Given the description of an element on the screen output the (x, y) to click on. 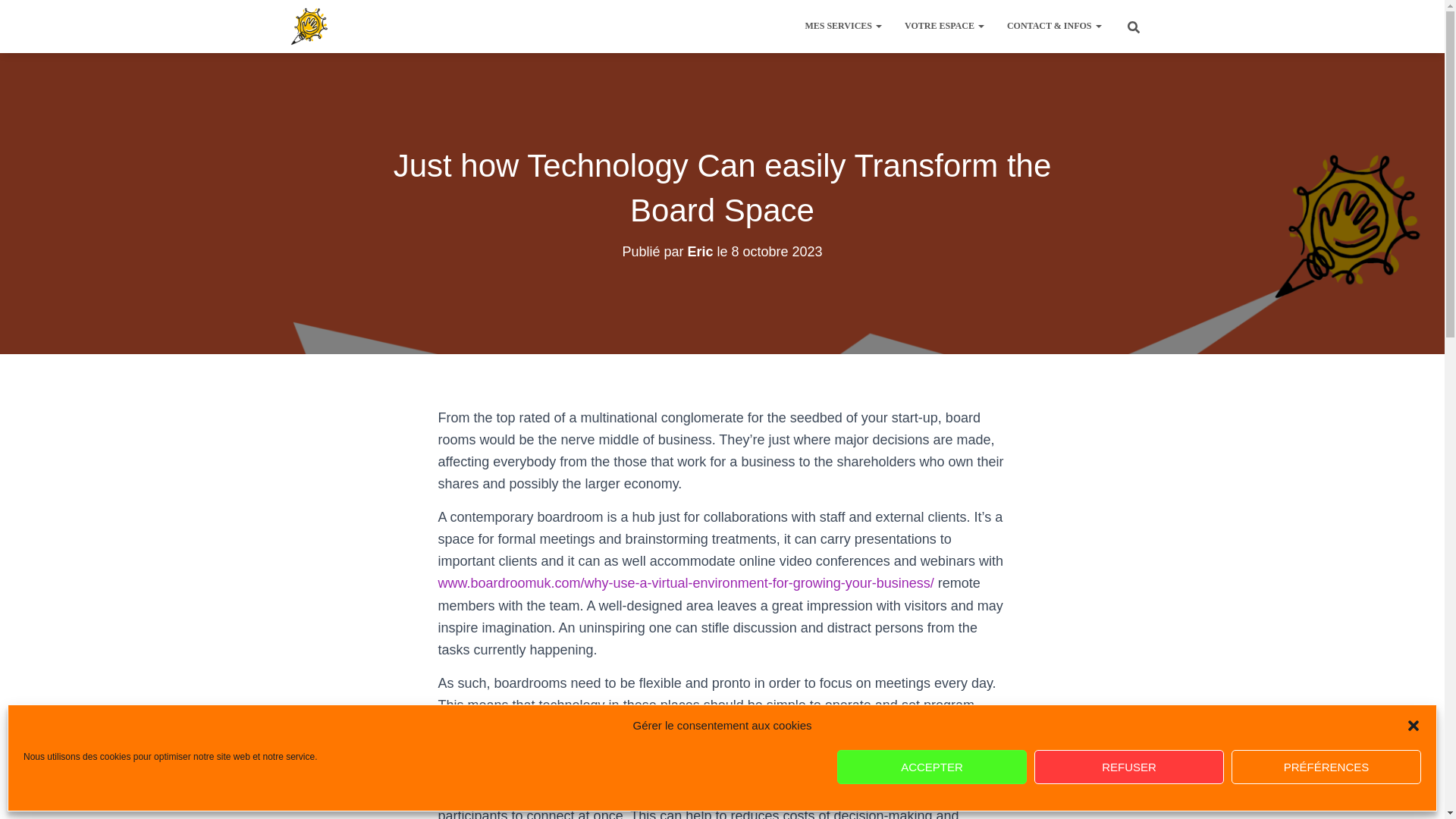
MES SERVICES (843, 26)
MES SERVICES (843, 26)
